Given the description of an element on the screen output the (x, y) to click on. 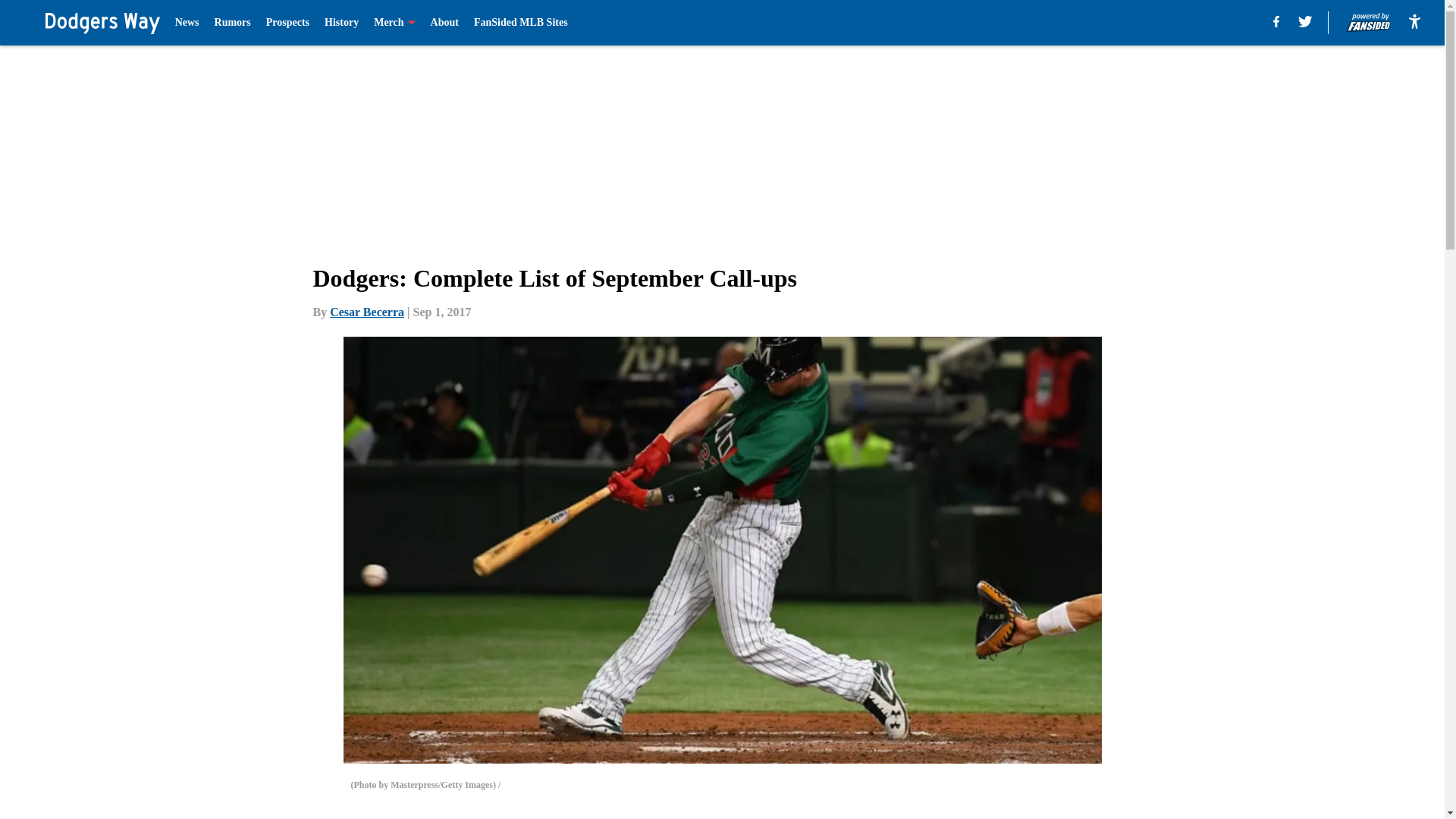
Rumors (232, 22)
FanSided MLB Sites (520, 22)
History (341, 22)
News (186, 22)
About (444, 22)
Prospects (287, 22)
Cesar Becerra (367, 311)
